Given the description of an element on the screen output the (x, y) to click on. 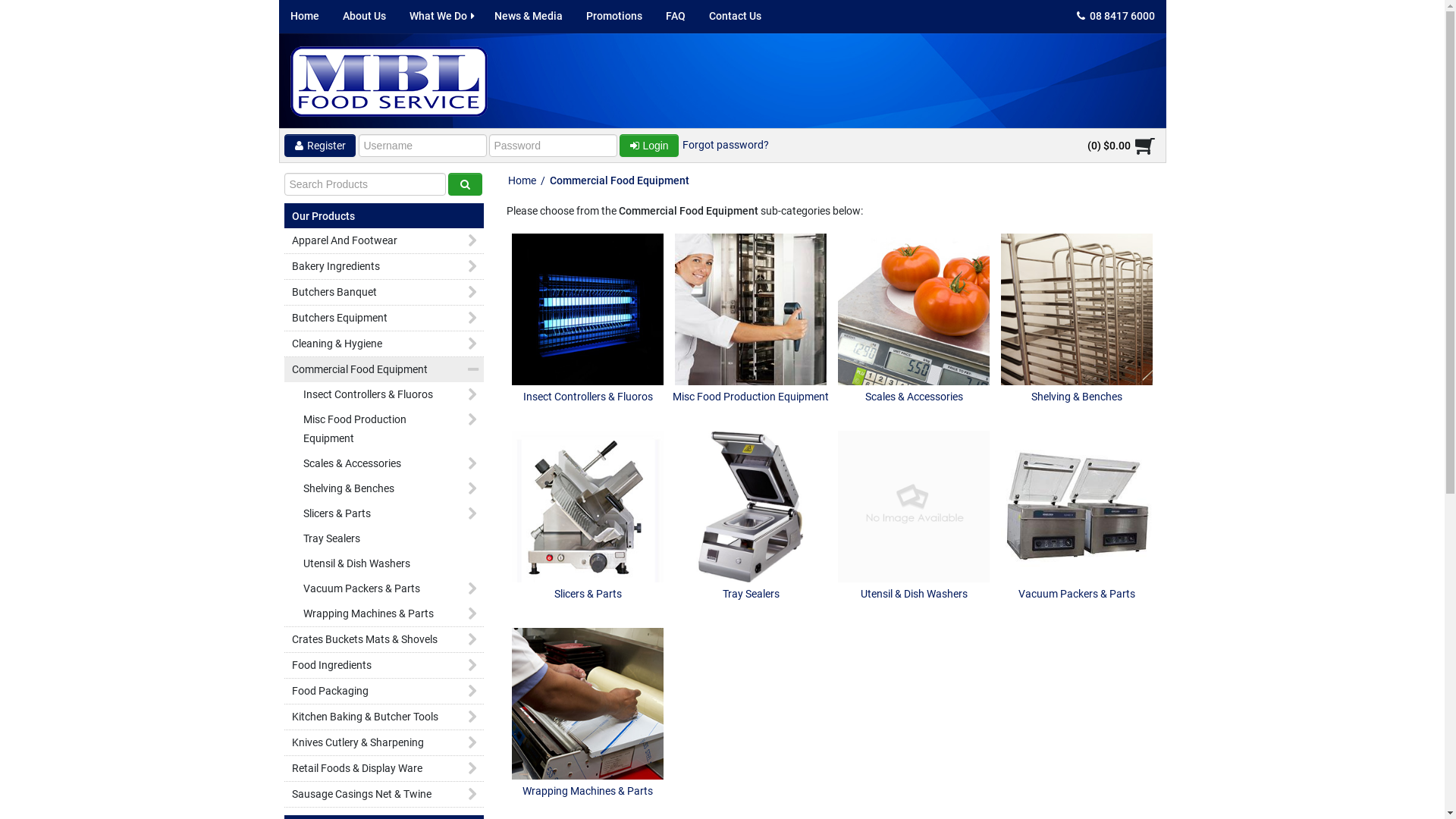
Misc Food Production Equipment Element type: text (750, 353)
Kitchen Baking & Butcher Tools Element type: text (383, 716)
Butchers Equipment Element type: text (383, 317)
Scales & Accessories Element type: hover (913, 309)
Food Ingredients Element type: text (383, 664)
MBL Food Service Home Element type: hover (387, 81)
Misc Food Production Equipment Element type: hover (750, 309)
Insect Controllers & Fluoros Element type: hover (587, 309)
Forgot password? Element type: text (725, 144)
Search Products Element type: hover (464, 183)
Retail Foods & Display Ware Element type: text (383, 768)
Shelving & Benches Element type: hover (1076, 309)
08 8417 6000 Element type: text (1114, 16)
Tray Sealers Element type: hover (750, 506)
Our Products Element type: text (322, 212)
Register Element type: text (318, 145)
Knives Cutlery & Sharpening Element type: text (383, 742)
FAQ Element type: text (674, 16)
Utensil & Dish Washers Element type: text (913, 550)
Vacuum Packers & Parts Element type: text (383, 588)
Utensil & Dish Washers Element type: hover (913, 506)
Shelving & Benches Element type: text (383, 488)
About Us Element type: text (363, 16)
Apparel And Footwear Element type: text (383, 240)
Home Element type: text (304, 16)
Home Element type: text (522, 180)
Shelving & Benches Element type: text (1076, 353)
What We Do Element type: text (439, 16)
Slicers & Parts Element type: text (383, 513)
Bakery Ingredients Element type: text (383, 266)
Wrapping Machines & Parts Element type: text (587, 747)
Promotions Element type: text (613, 16)
Crates Buckets Mats & Shovels Element type: text (383, 639)
Tray Sealers Element type: text (383, 538)
Butchers Banquet Element type: text (383, 291)
Scales & Accessories Element type: text (913, 353)
News & Media Element type: text (527, 16)
Insect Controllers & Fluoros Element type: text (383, 394)
Shopping Cart Element type: hover (1139, 145)
Wrapping Machines & Parts Element type: text (383, 613)
Insect Controllers & Fluoros Element type: text (587, 353)
Wrapping Machines & Parts Element type: hover (587, 703)
Tray Sealers Element type: text (750, 550)
Sausage Casings Net & Twine Element type: text (383, 793)
Slicers & Parts Element type: text (587, 550)
Food Packaging Element type: text (383, 690)
Contact Us Element type: text (734, 16)
Vacuum Packers & Parts Element type: hover (1076, 506)
Vacuum Packers & Parts Element type: text (1076, 550)
Login Element type: text (647, 145)
Commercial Food Equipment Element type: text (383, 369)
Cleaning & Hygiene Element type: text (383, 343)
Slicers & Parts Element type: hover (587, 506)
Misc Food Production Equipment Element type: text (383, 429)
Utensil & Dish Washers Element type: text (383, 563)
Scales & Accessories Element type: text (383, 463)
